Given the description of an element on the screen output the (x, y) to click on. 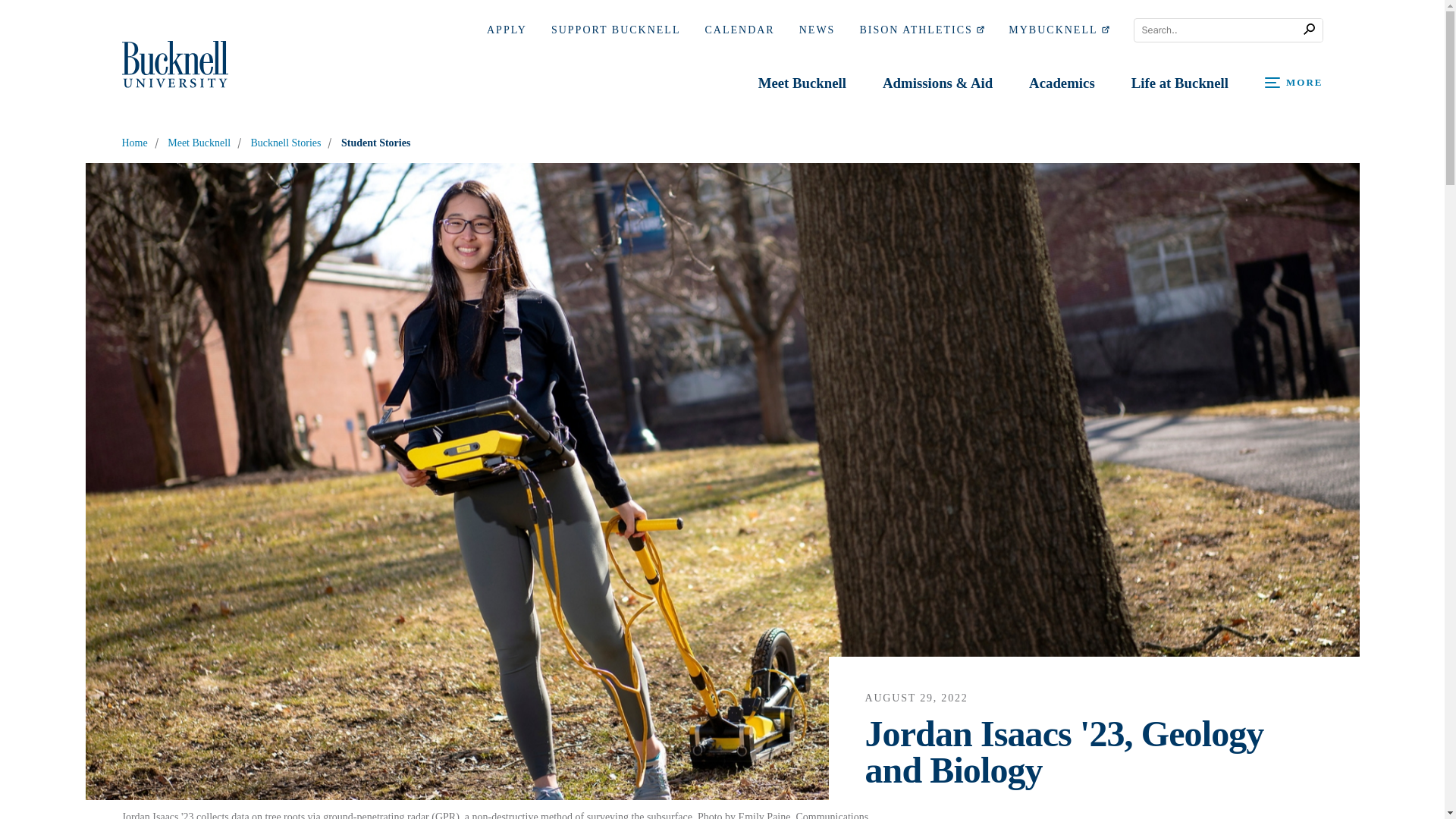
Meet Bucknell (801, 70)
Life at Bucknell (1179, 84)
Academics (1061, 84)
EXTERNAL LINK ICON (1104, 29)
Skip to main content (21, 14)
EXTERNAL LINK ICON (980, 29)
Bucknell University (173, 63)
